Given the description of an element on the screen output the (x, y) to click on. 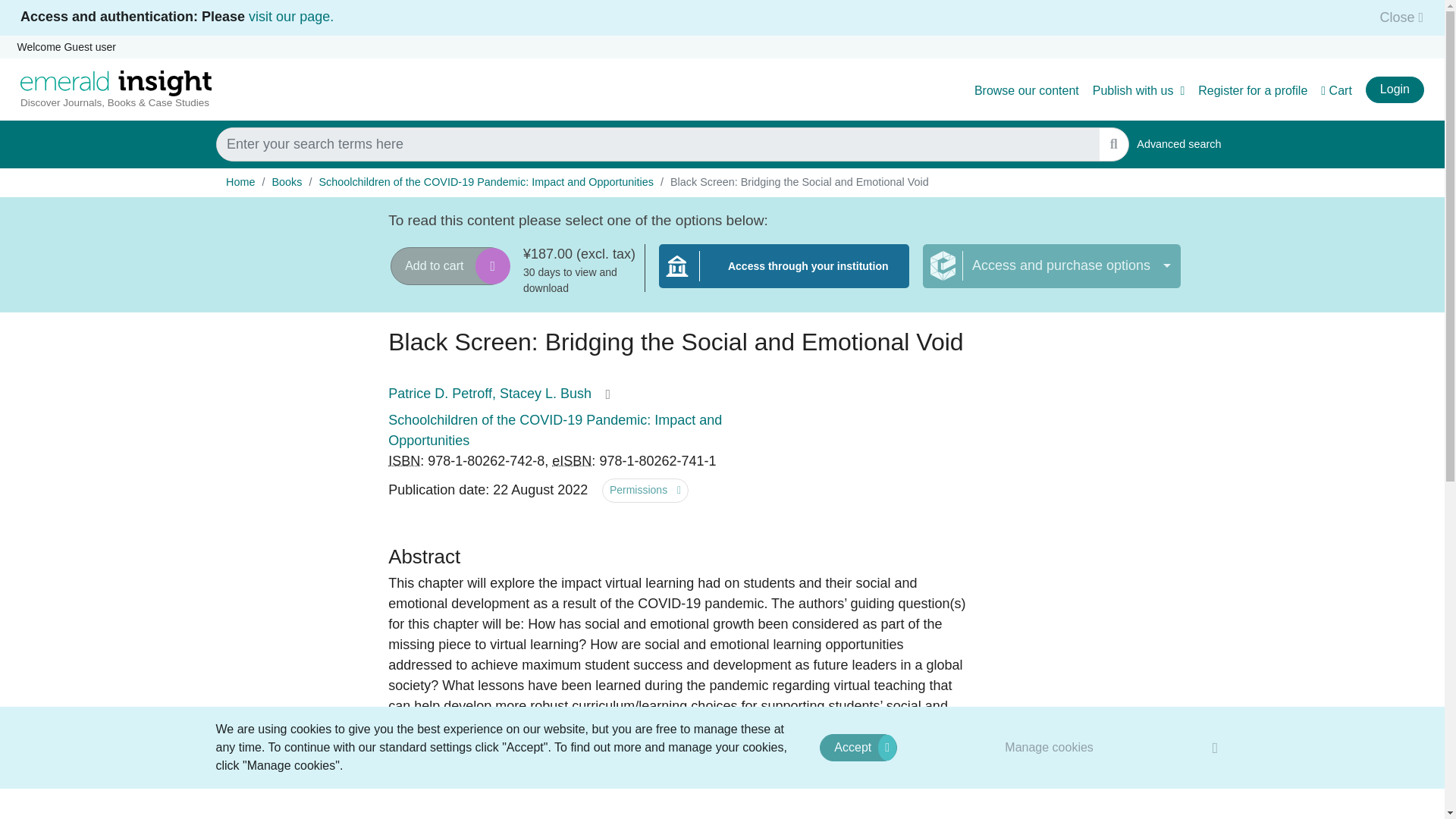
Close (1397, 17)
Cart (1336, 90)
visit our page. (290, 16)
Home (239, 182)
Accept (857, 747)
Books (285, 182)
Manage cookies (1178, 144)
Access through your institution (1049, 747)
